Given the description of an element on the screen output the (x, y) to click on. 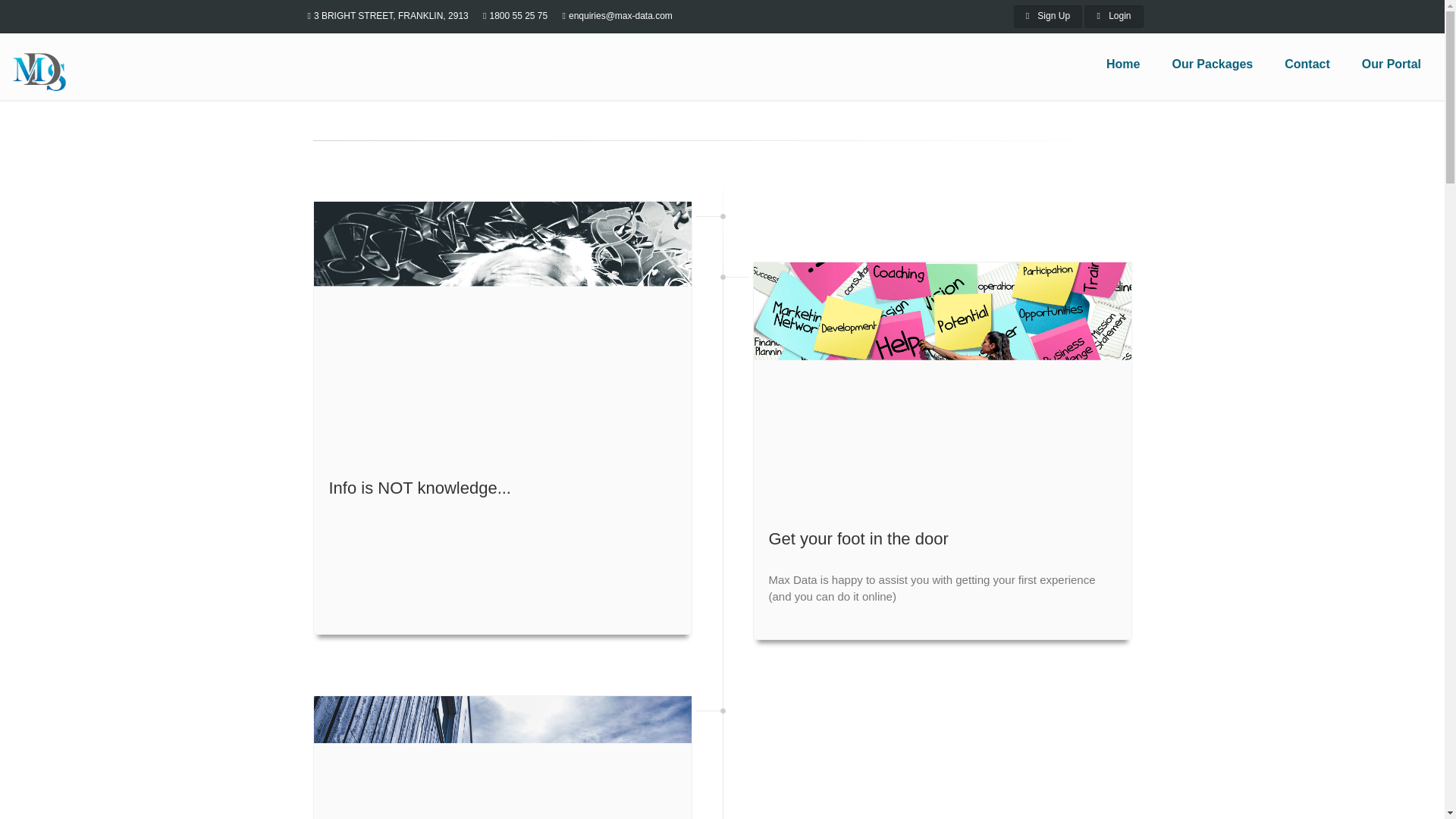
Contact (1307, 64)
Sign Up (1047, 15)
Home (1122, 64)
Our Portal (1390, 64)
Login (1113, 15)
Our Packages (1211, 64)
